Given the description of an element on the screen output the (x, y) to click on. 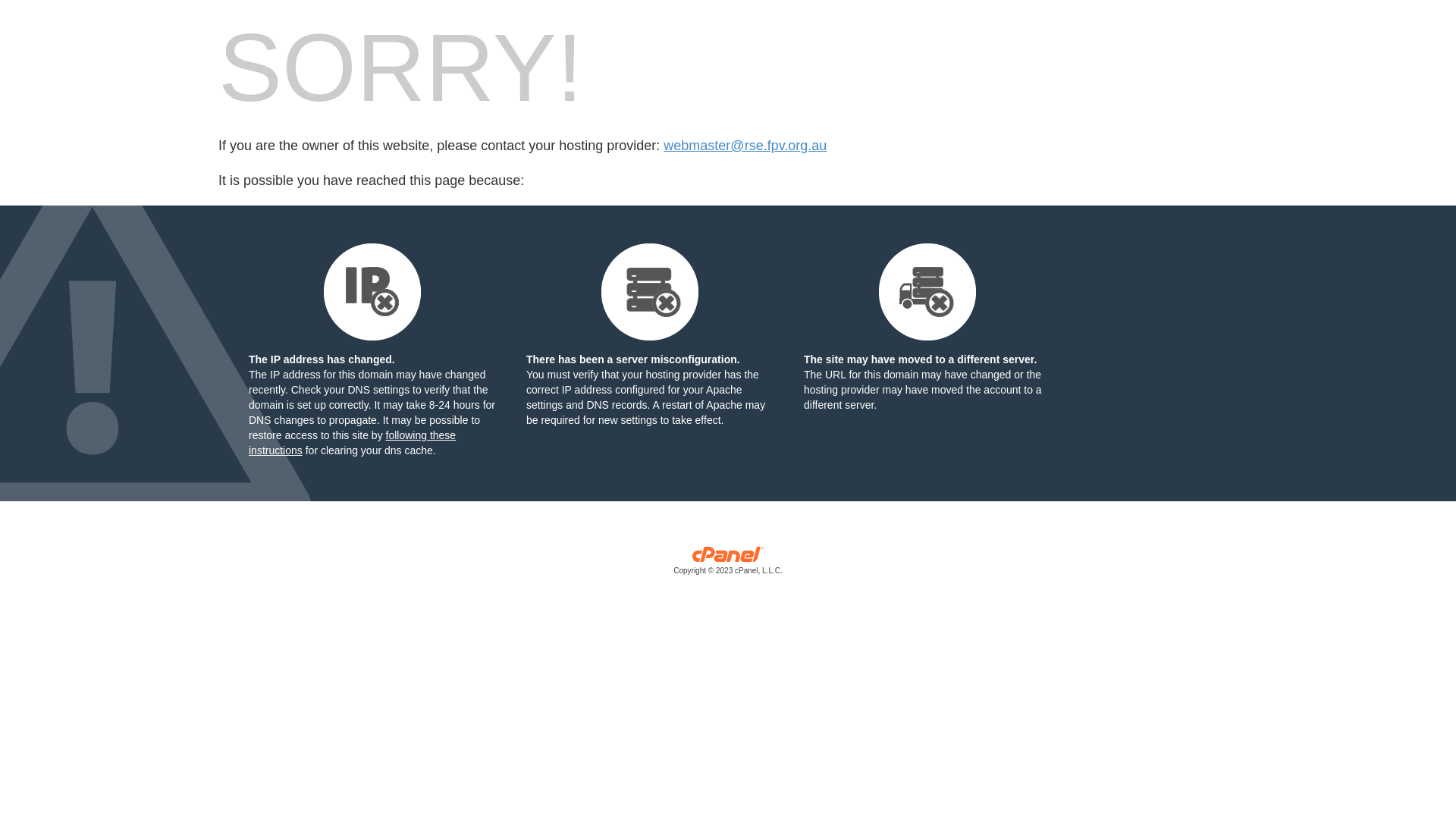
following these instructions Element type: text (351, 442)
webmaster@rse.fpv.org.au Element type: text (744, 145)
